Given the description of an element on the screen output the (x, y) to click on. 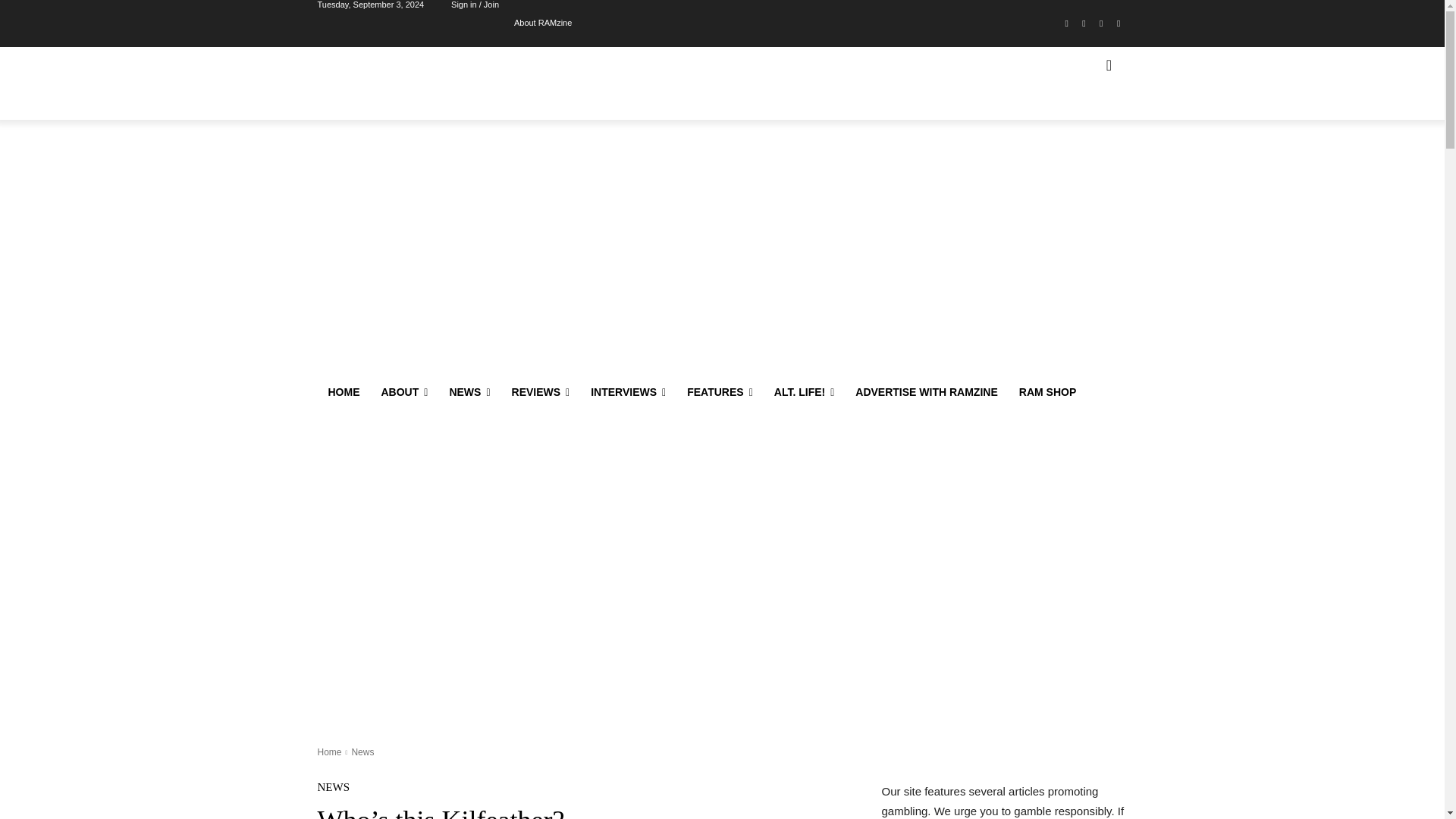
Instagram (1084, 23)
Facebook (1066, 23)
Twitter (1101, 23)
Youtube (1117, 23)
